Given the description of an element on the screen output the (x, y) to click on. 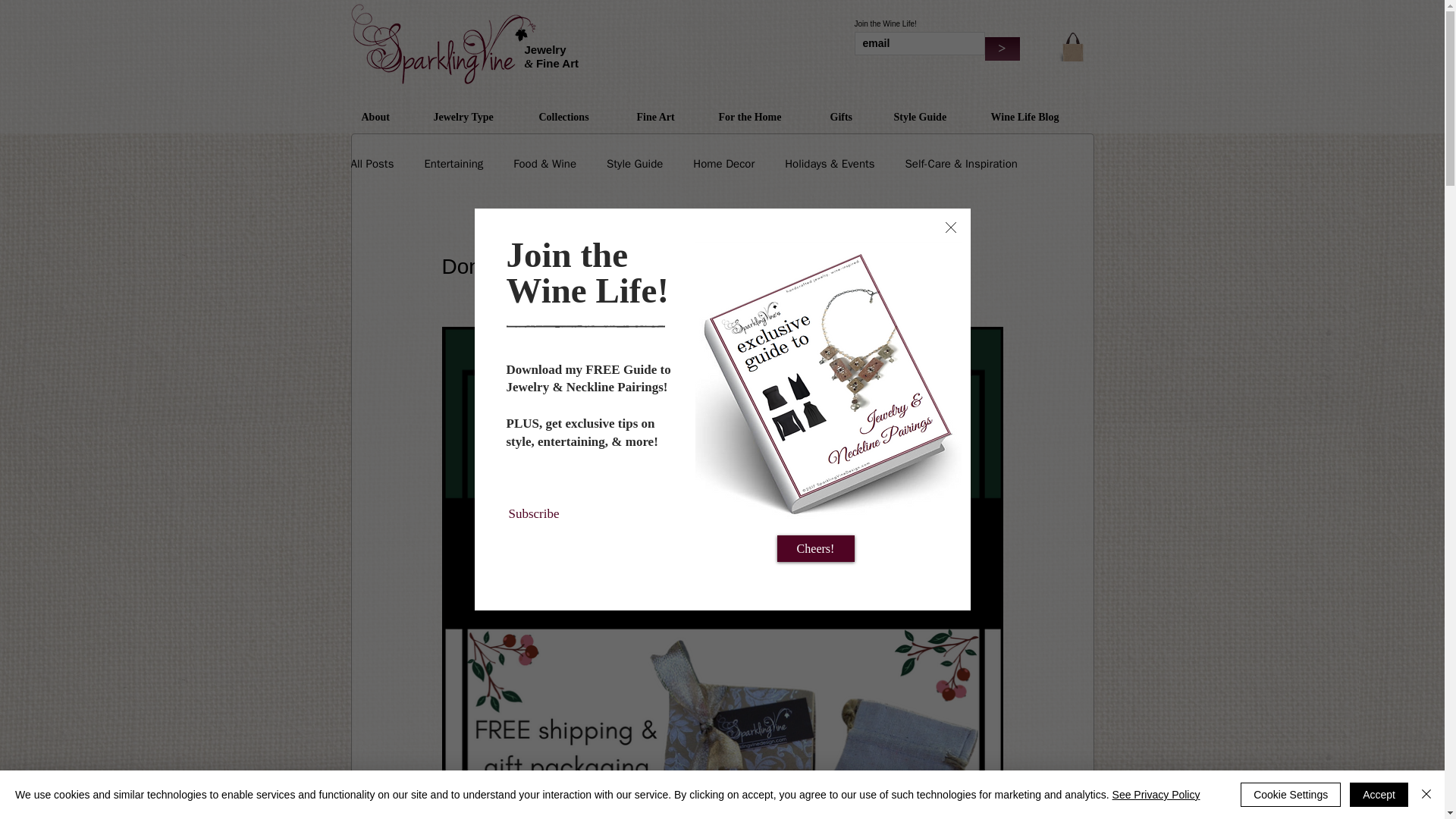
Wine Life Blog (1036, 117)
Fine Art (666, 117)
For the Home (763, 117)
Collections (576, 117)
Jewelry Type (475, 117)
Back to site (949, 226)
